Given the description of an element on the screen output the (x, y) to click on. 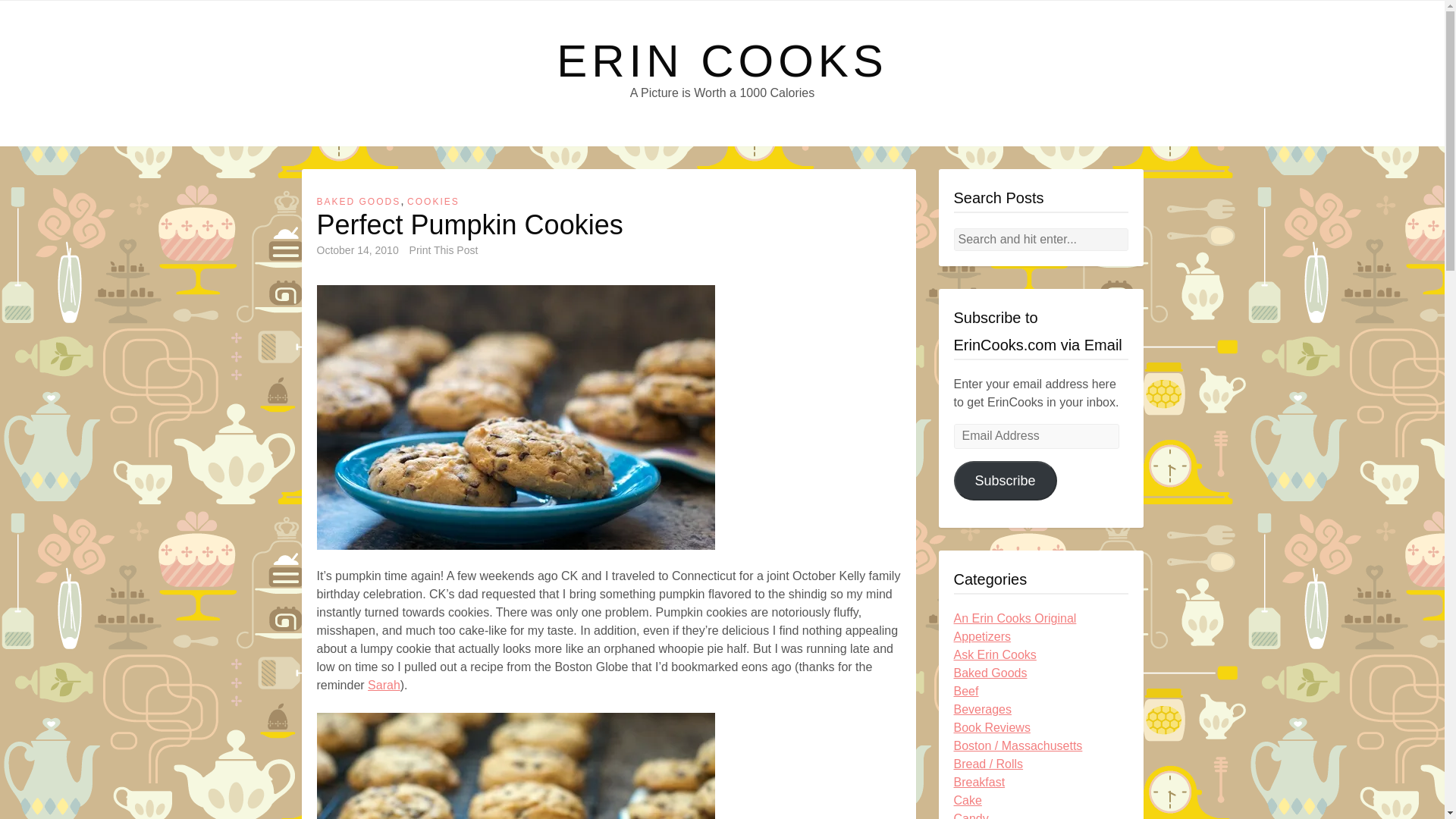
Sarah (384, 685)
BAKED GOODS (359, 201)
October 14, 2010 (357, 250)
Perfect Pumpkin Cookies (515, 417)
Perfect Pumpkin Cookies (515, 765)
Print This Post (444, 250)
ERIN COOKS (722, 61)
COOKIES (433, 201)
Visit Sarah at Brew England (384, 685)
Print This Post (444, 250)
